Given the description of an element on the screen output the (x, y) to click on. 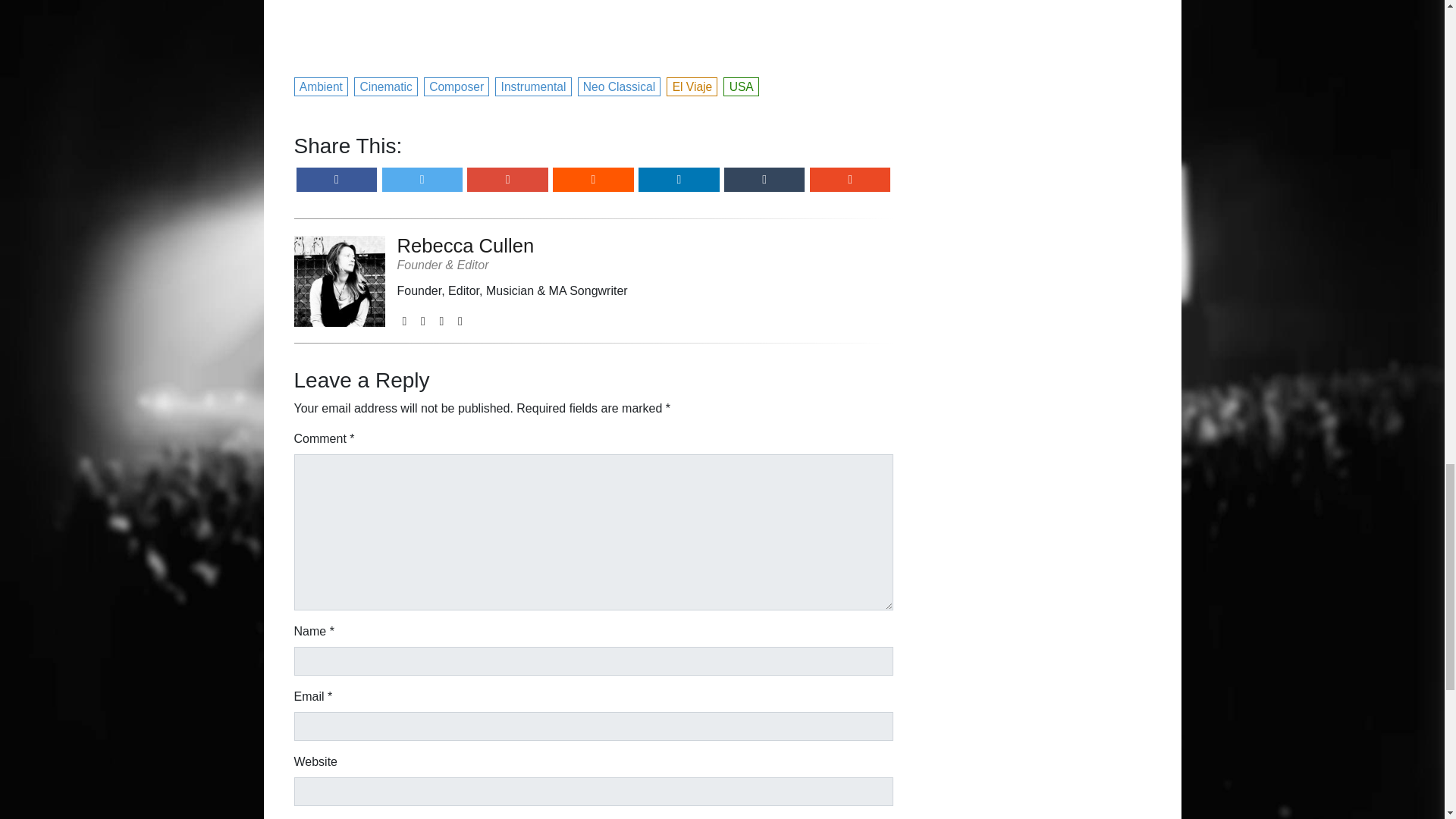
Composer (456, 85)
El Viaje (692, 85)
USA (741, 85)
Story of Stephen by El Viaje (593, 28)
Cinematic (386, 85)
Ambient (321, 85)
Neo Classical (620, 85)
Instrumental (533, 85)
Rebecca Cullen (512, 245)
